Given the description of an element on the screen output the (x, y) to click on. 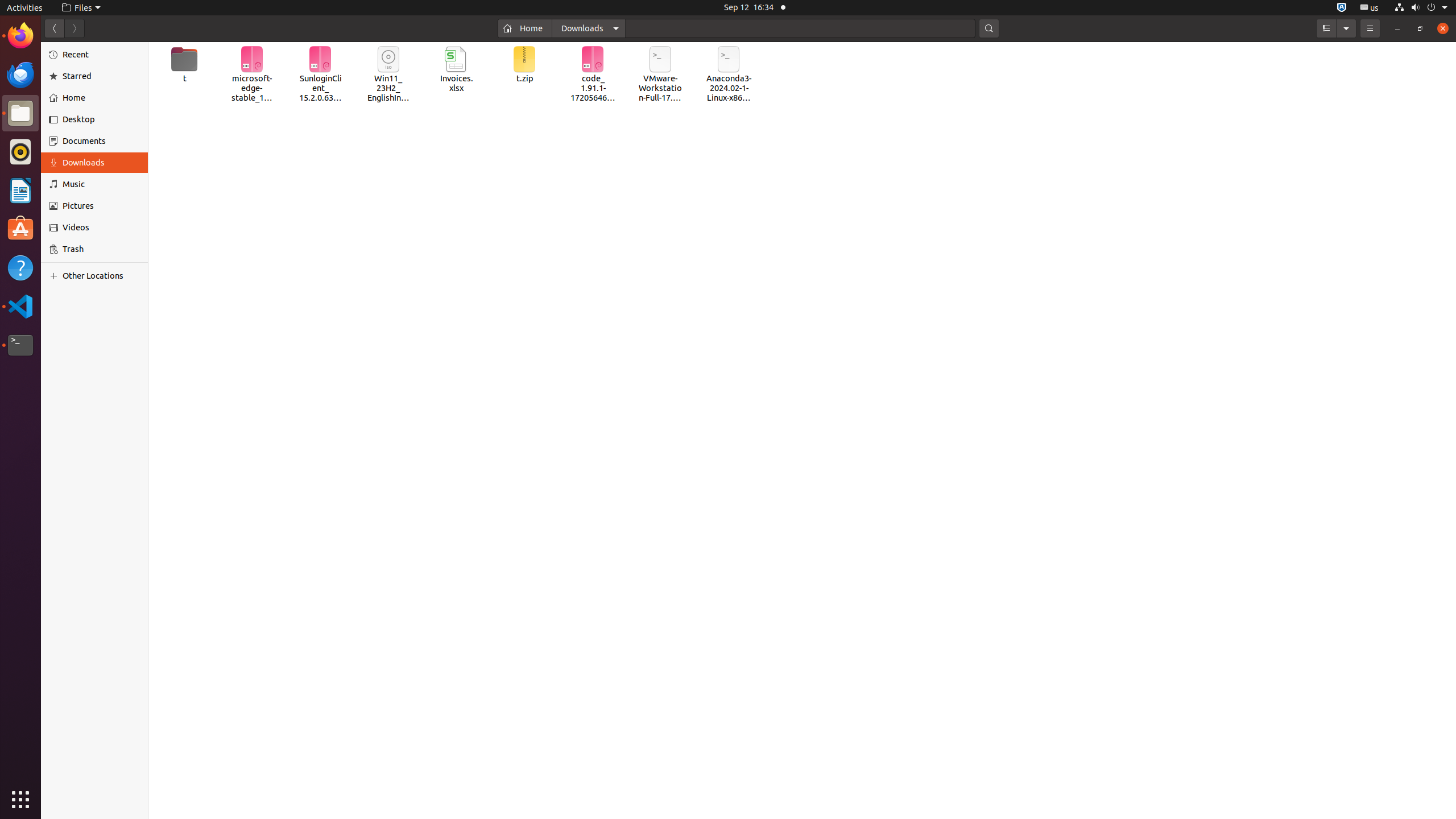
Pictures Element type: label (100, 205)
Invoices.xlsx Element type: canvas (456, 69)
t Element type: canvas (183, 64)
